Given the description of an element on the screen output the (x, y) to click on. 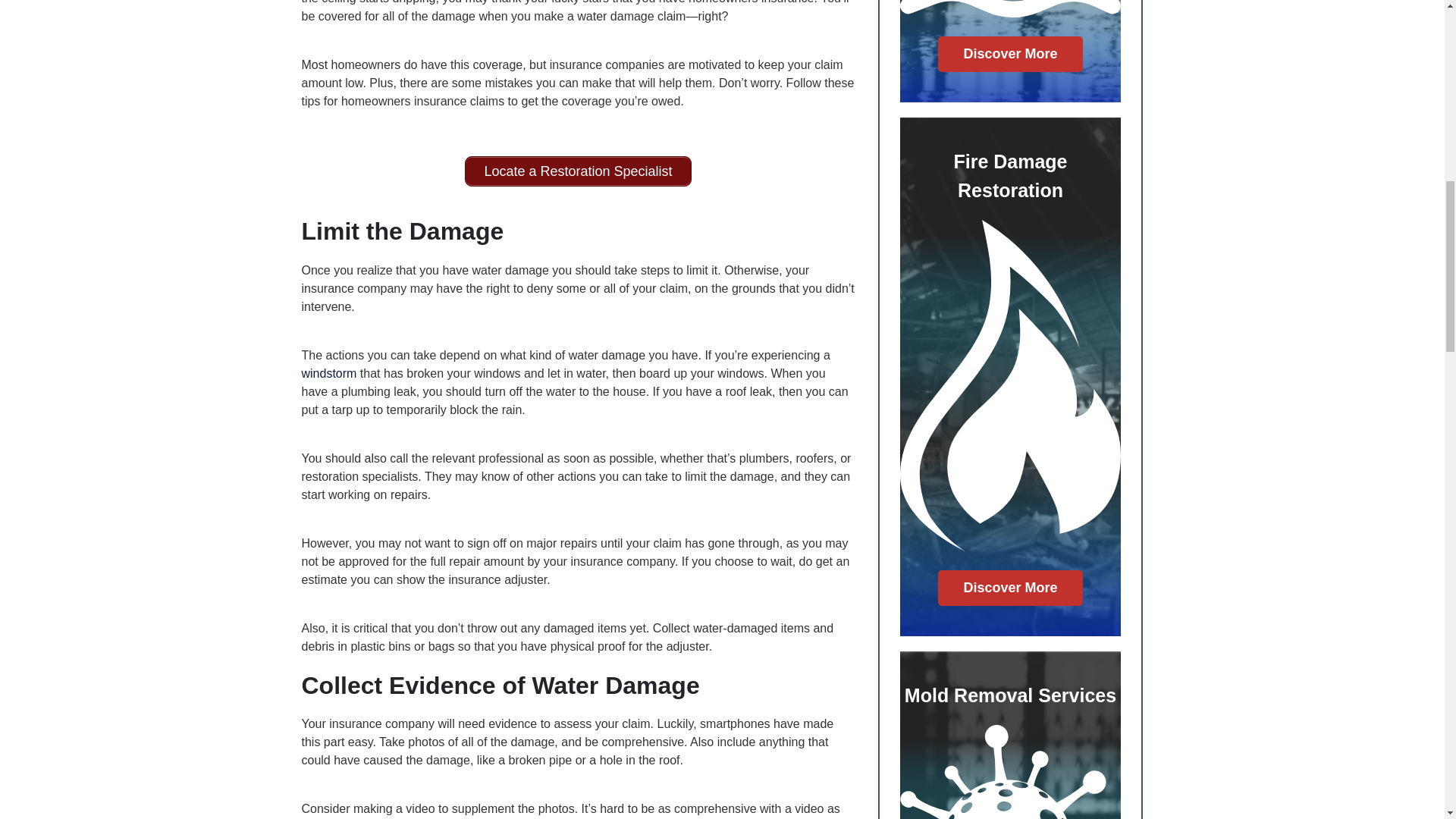
Discover More (1010, 54)
windstorm (328, 373)
Locate a Restoration Specialist (577, 171)
Discover More (1010, 588)
